Given the description of an element on the screen output the (x, y) to click on. 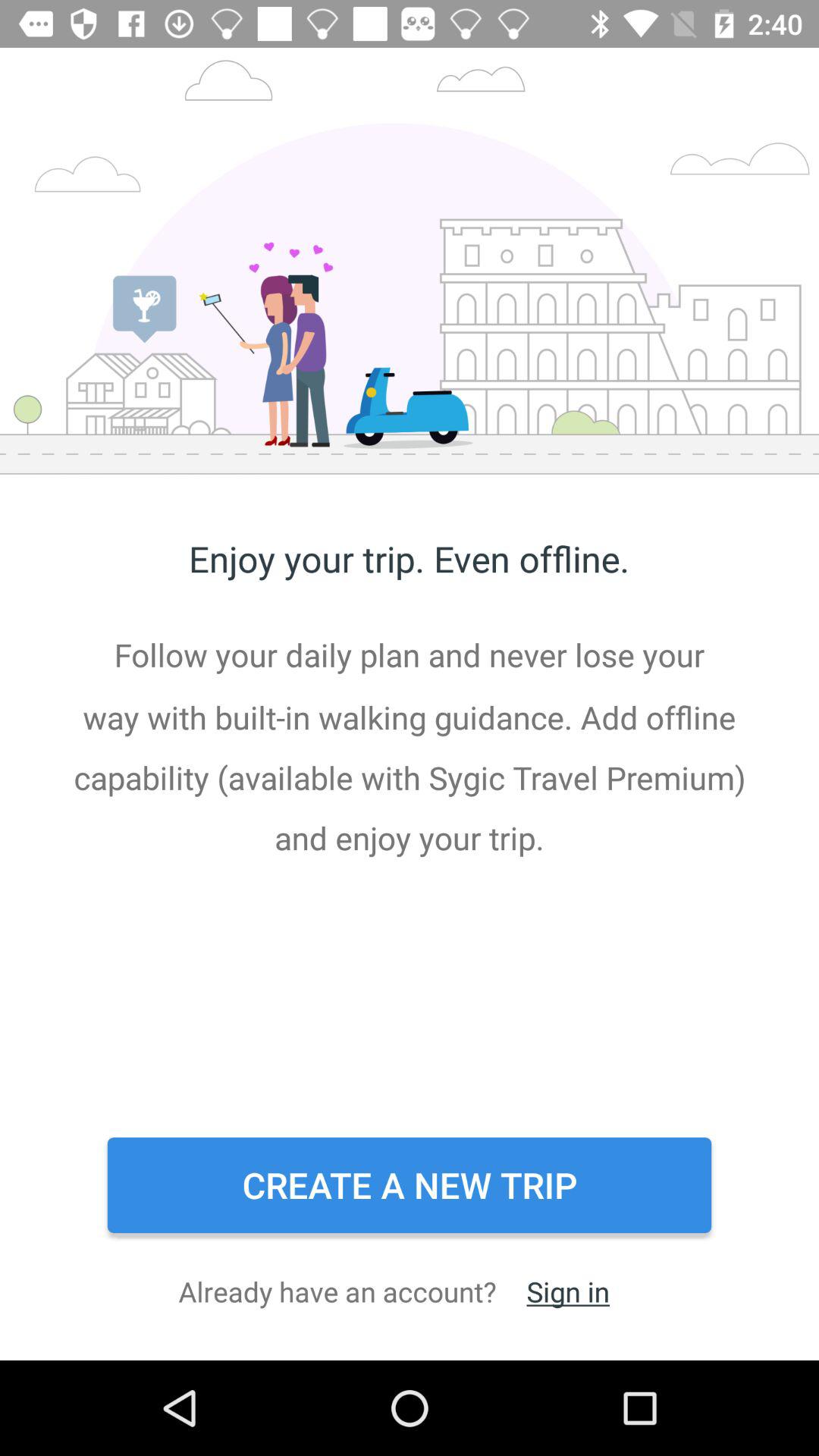
click create a new icon (409, 1185)
